Given the description of an element on the screen output the (x, y) to click on. 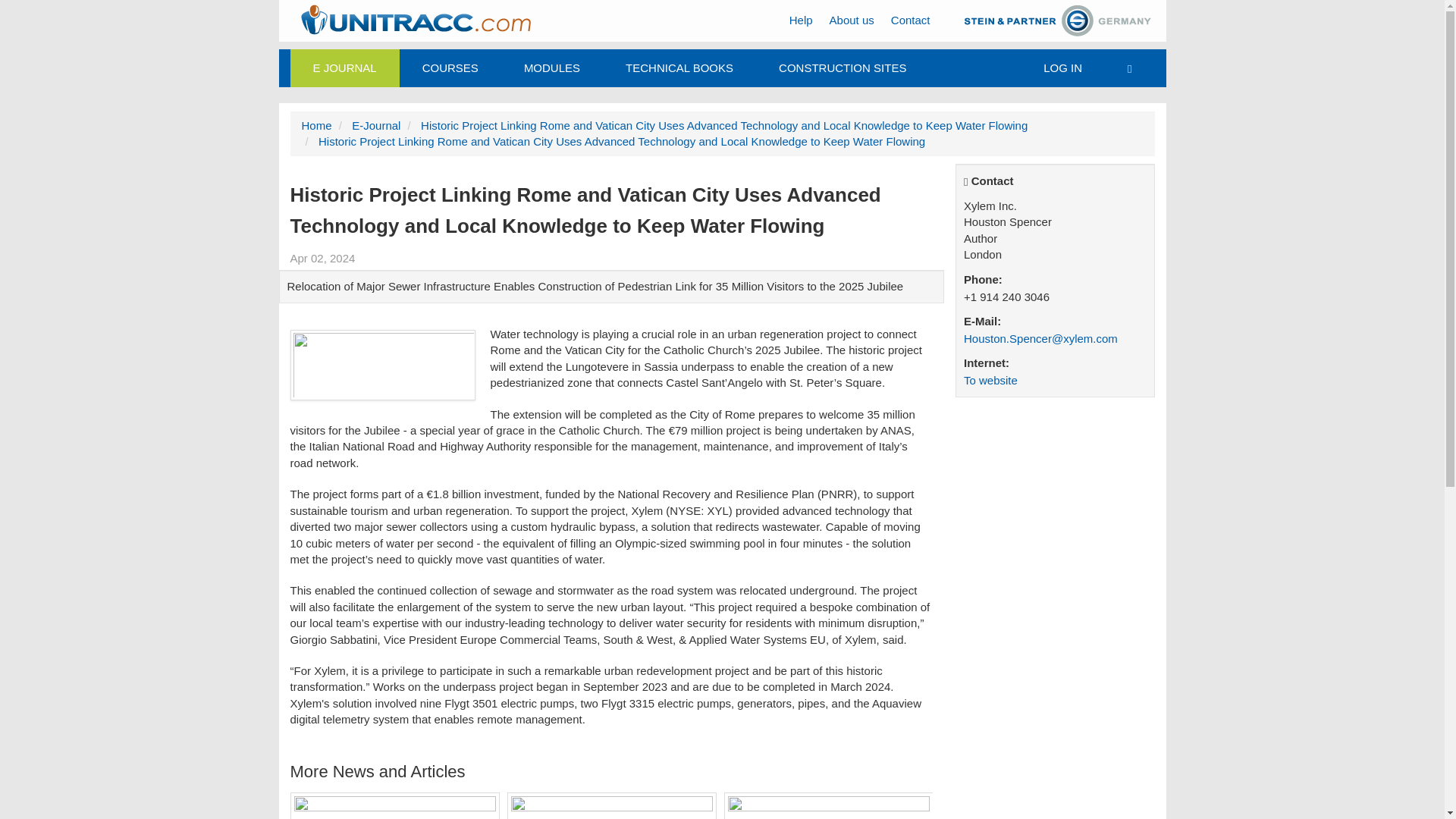
MODULES (551, 67)
Help (801, 20)
CONSTRUCTION SITES (841, 67)
E JOURNAL (343, 67)
Contact (910, 20)
LOG IN (1062, 67)
COURSES (449, 67)
Home (316, 124)
TECHNICAL BOOKS (678, 67)
E-Journal (376, 124)
